Given the description of an element on the screen output the (x, y) to click on. 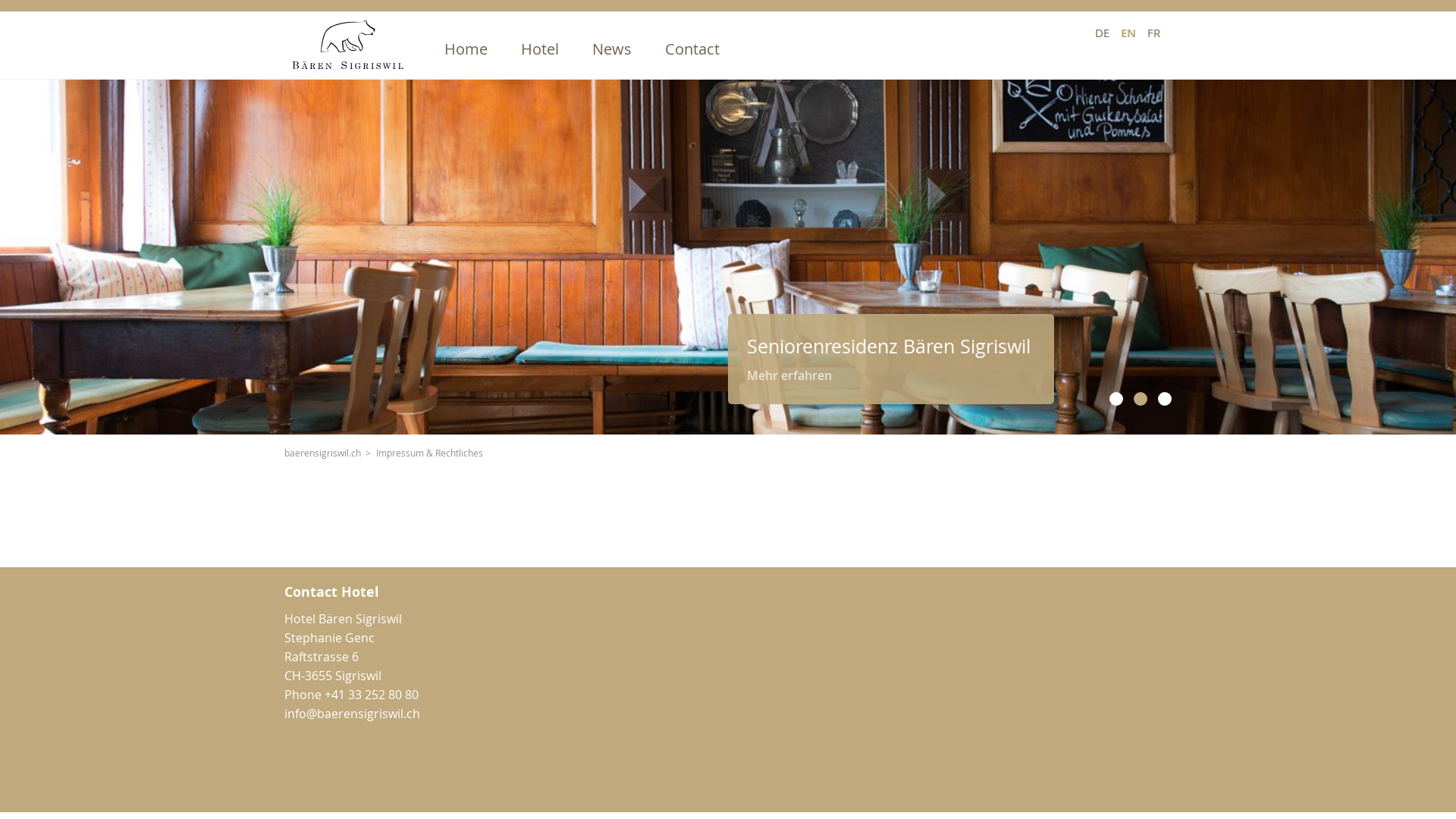
News Element type: text (611, 48)
Hotel Element type: text (539, 48)
Home Element type: text (465, 48)
Contact Element type: text (692, 48)
Impressum & Rechtliches Element type: text (429, 452)
FR Element type: text (1153, 32)
info@baerensigriswil.ch Element type: text (352, 713)
EN Element type: text (1127, 32)
baerensigriswil.ch Element type: text (322, 452)
DE Element type: text (1102, 32)
